Given the description of an element on the screen output the (x, y) to click on. 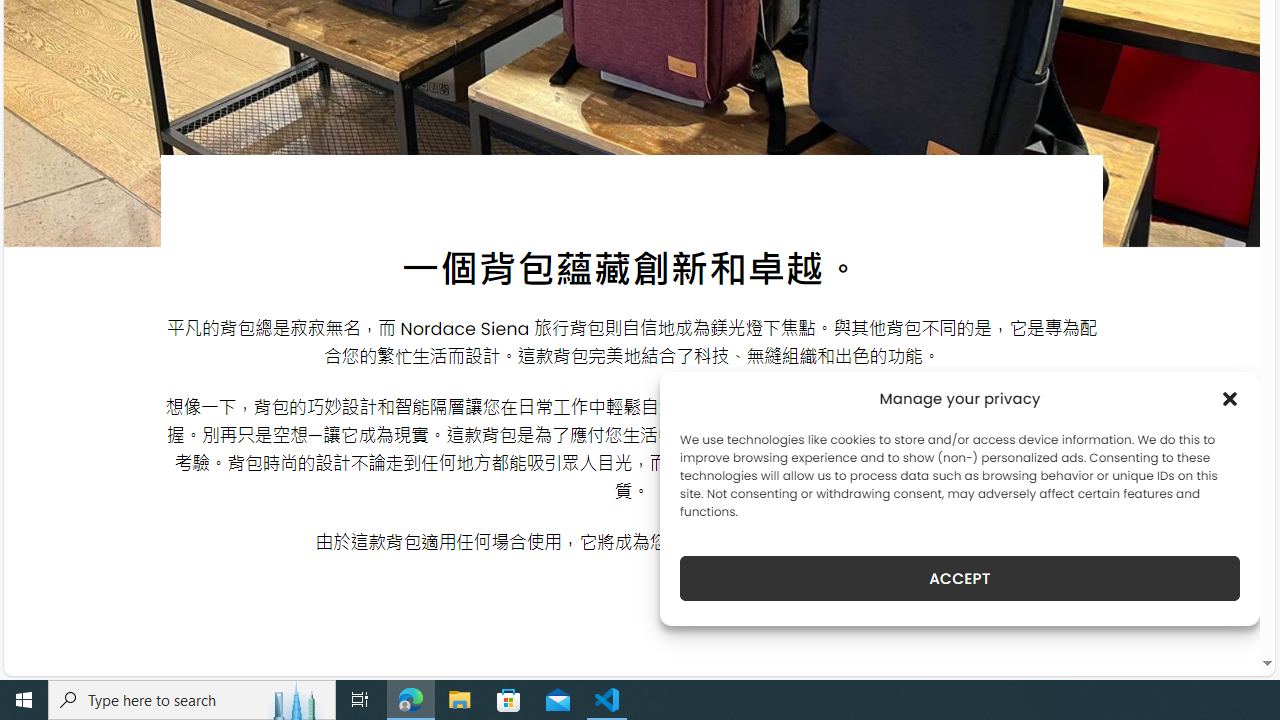
ACCEPT (959, 578)
Class: cmplz-close (1229, 398)
